Given the description of an element on the screen output the (x, y) to click on. 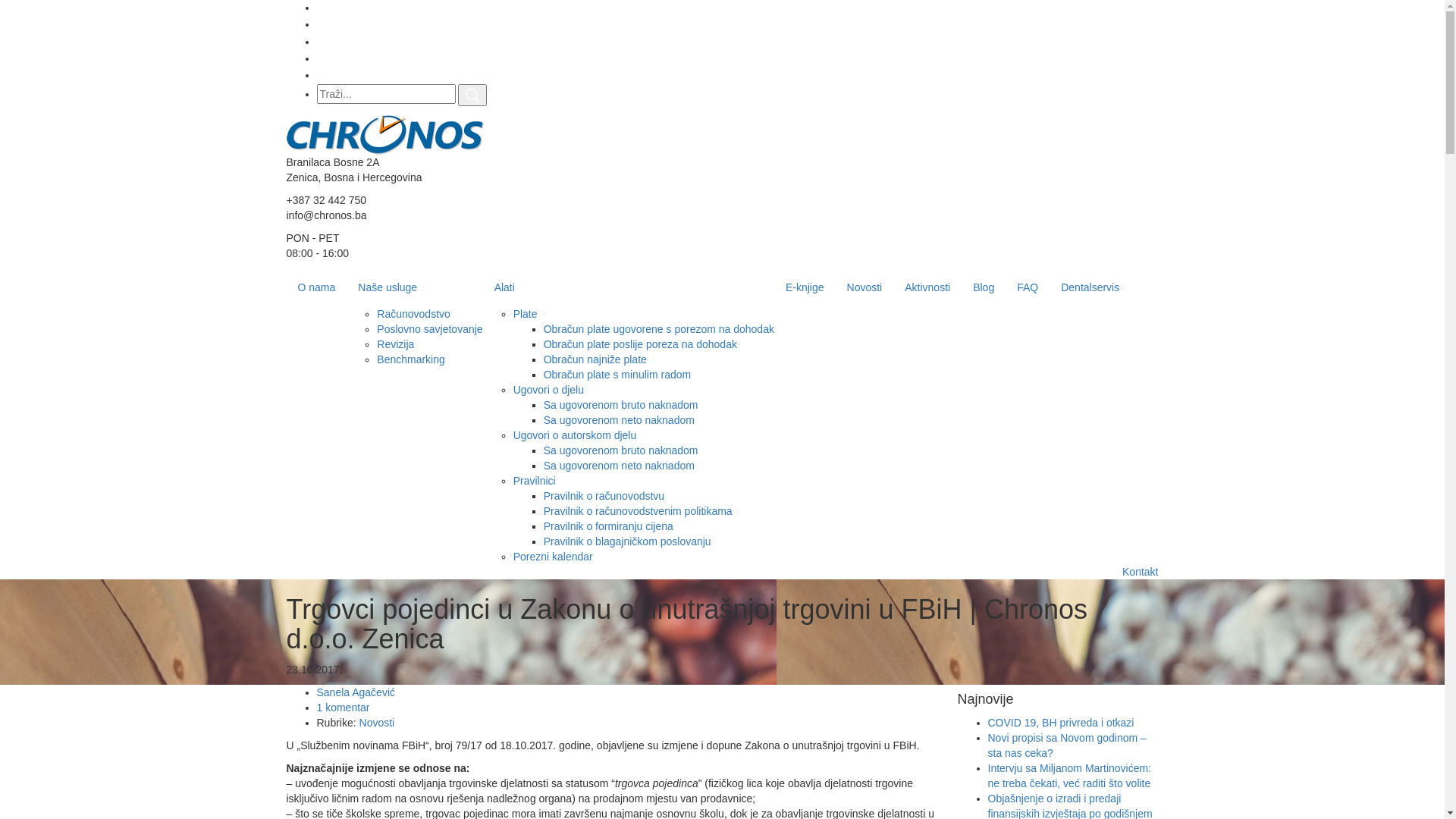
Poslovno savjetovanje Element type: text (429, 329)
E-knjige Element type: text (804, 287)
Pravilnici Element type: text (534, 480)
Sa ugovorenom bruto naknadom Element type: text (620, 450)
Novosti Element type: text (377, 722)
Kontakt Element type: text (1139, 571)
Sa ugovorenom neto naknadom Element type: text (618, 420)
Dentalservis Element type: text (1089, 287)
Revizija Element type: text (395, 344)
Novosti Element type: text (864, 287)
Ugovori o djelu Element type: text (548, 389)
Sa ugovorenom neto naknadom Element type: text (618, 465)
Alati Element type: text (628, 287)
Ugovori o autorskom djelu Element type: text (575, 435)
O nama Element type: text (316, 287)
Blog Element type: text (983, 287)
Plate Element type: text (525, 313)
FAQ Element type: text (1027, 287)
Sa ugovorenom bruto naknadom Element type: text (620, 404)
COVID 19, BH privreda i otkazi Element type: text (1060, 722)
Porezni kalendar Element type: text (553, 556)
Benchmarking Element type: text (410, 359)
1 komentar Element type: text (343, 707)
Pravilnik o formiranju cijena Element type: text (608, 526)
Aktivnosti Element type: text (927, 287)
